Given the description of an element on the screen output the (x, y) to click on. 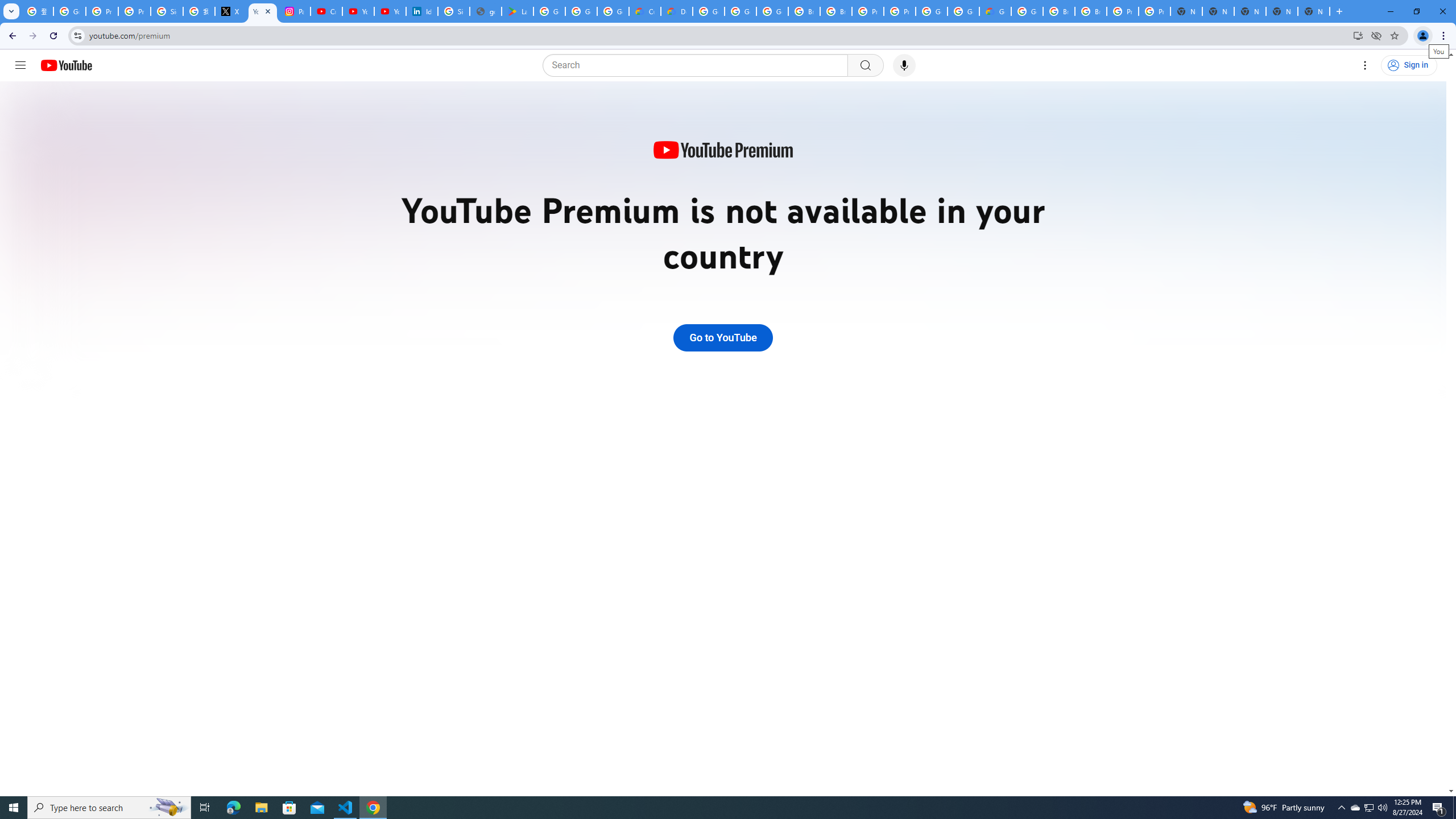
Privacy Help Center - Policies Help (101, 11)
Google Cloud Platform (931, 11)
